Given the description of an element on the screen output the (x, y) to click on. 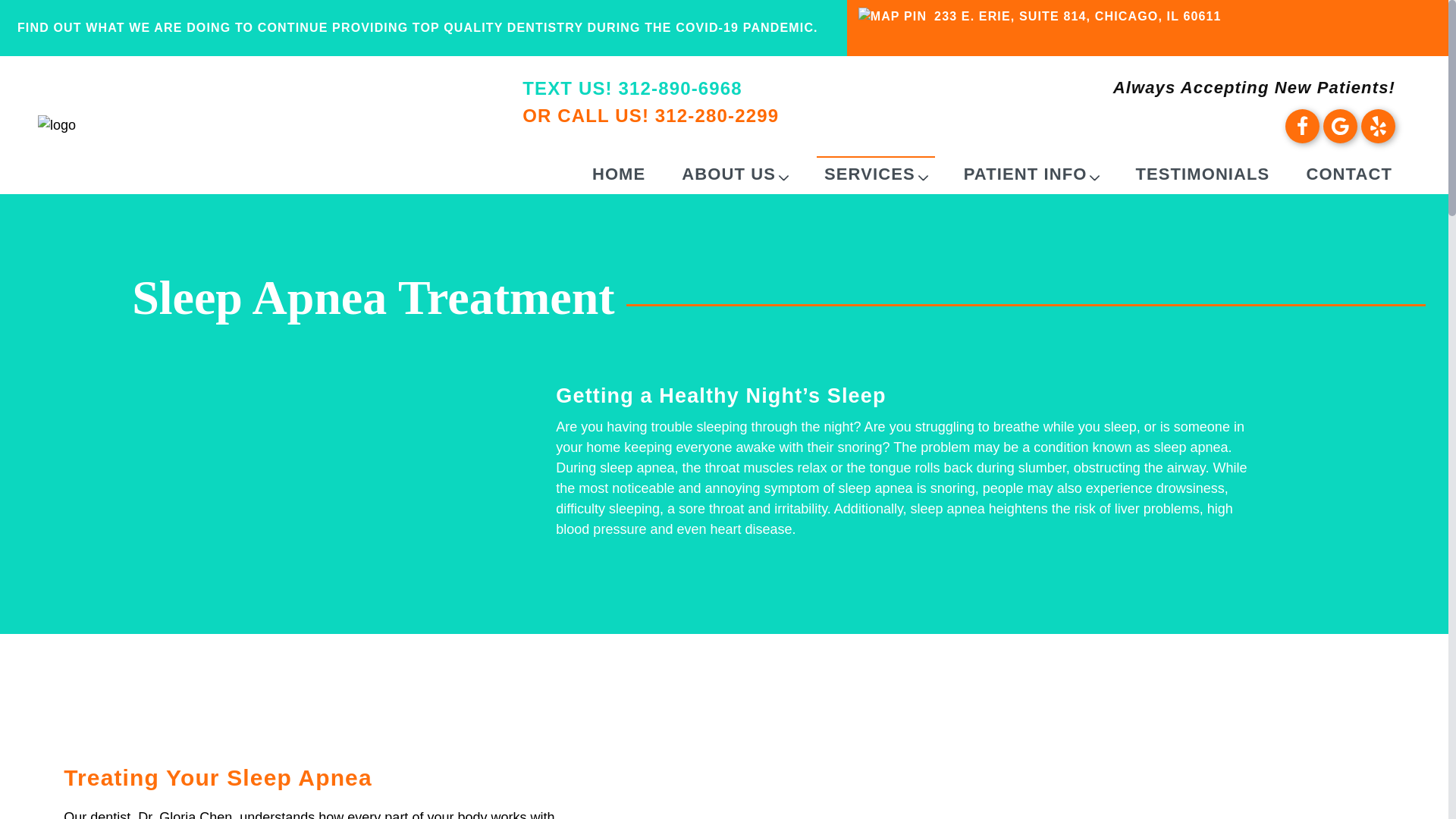
Google icon (1339, 125)
Facebook icon (1302, 125)
Yelp icon (1377, 125)
